Given the description of an element on the screen output the (x, y) to click on. 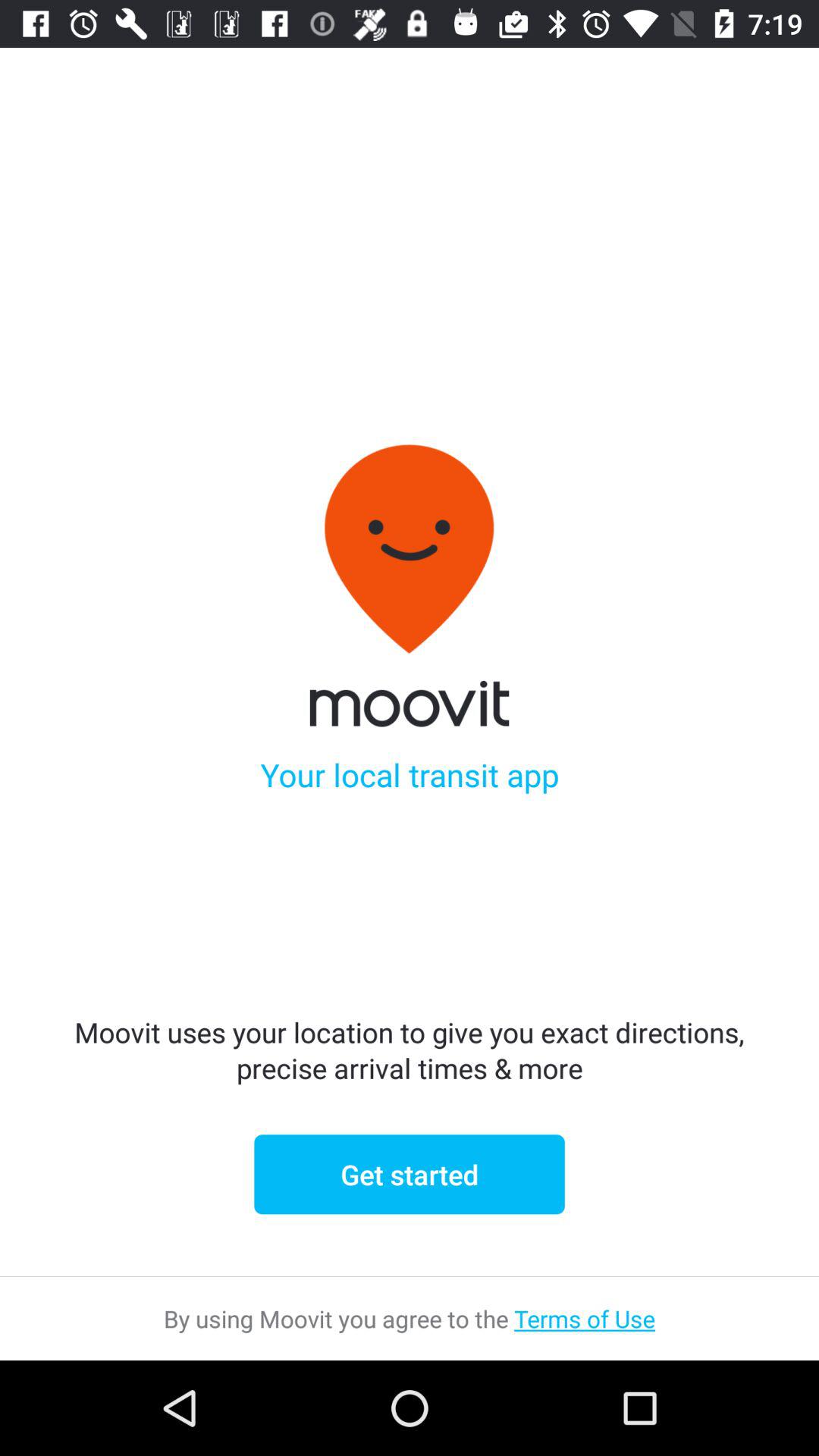
swipe until the by using moovit (409, 1318)
